Given the description of an element on the screen output the (x, y) to click on. 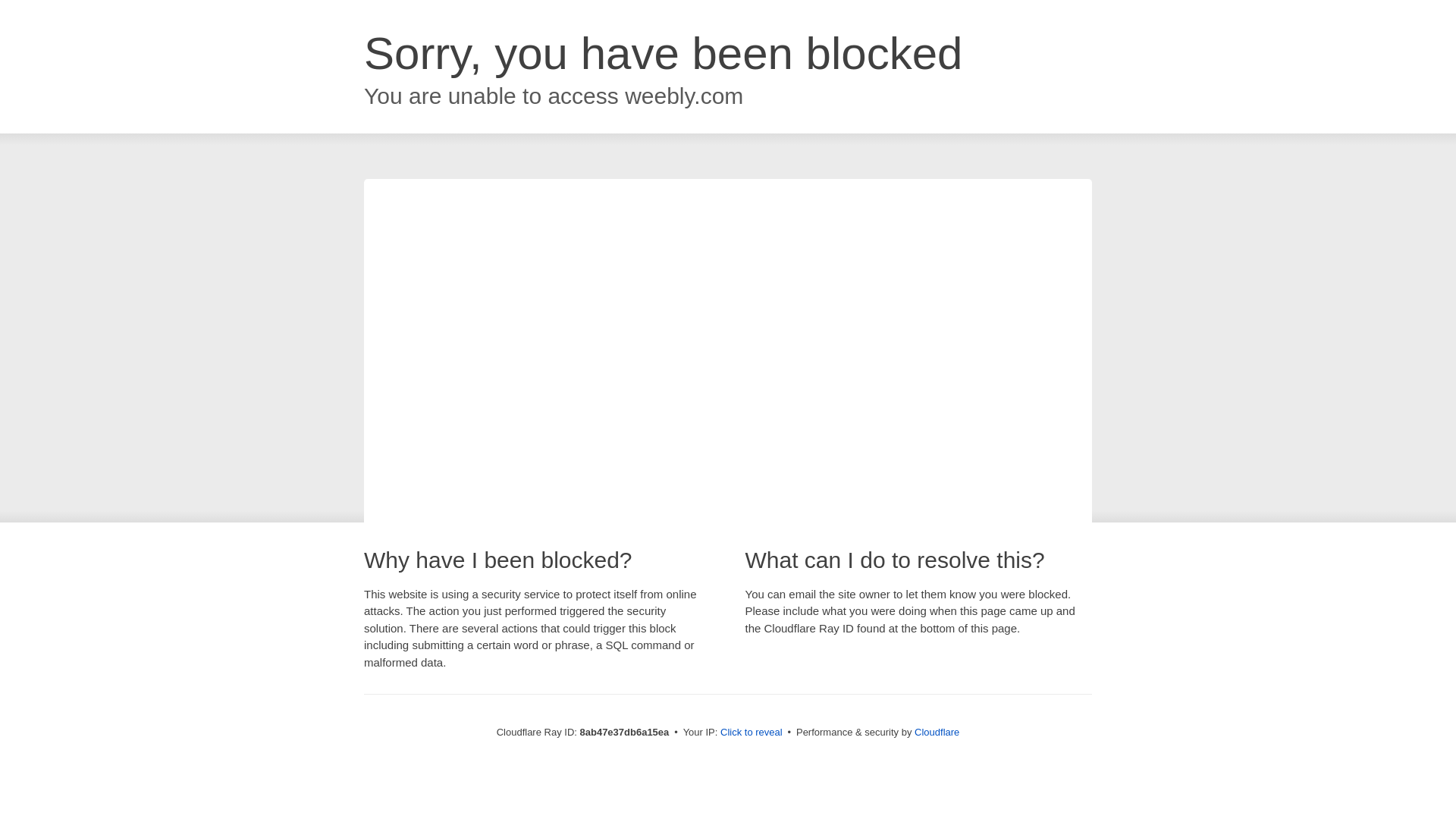
Cloudflare (936, 731)
Click to reveal (751, 732)
